Given the description of an element on the screen output the (x, y) to click on. 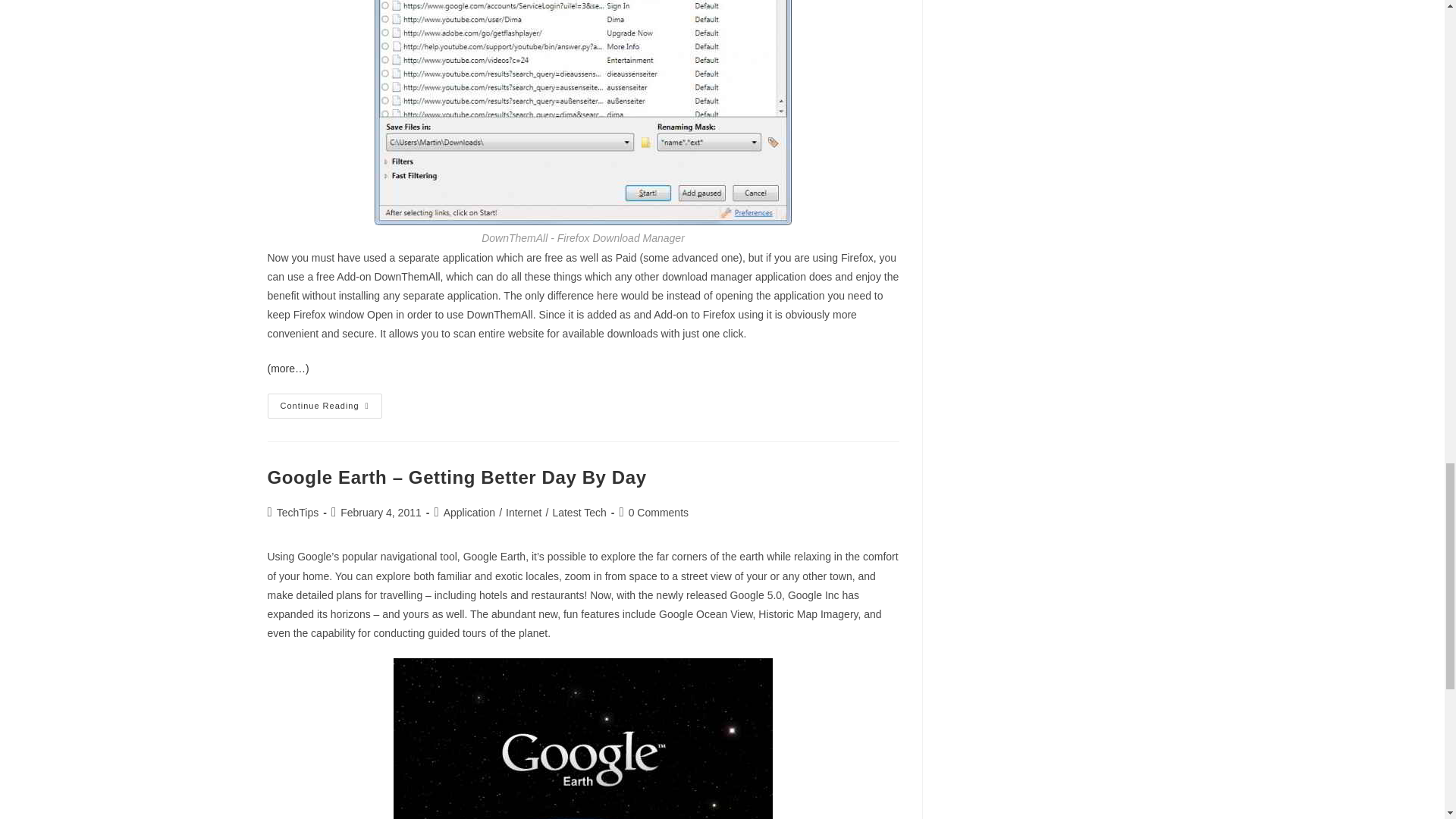
Posts by TechTips (297, 512)
DownThemAll  - Firefox Download Manager (583, 112)
Google Earth 5.0 (583, 738)
